Given the description of an element on the screen output the (x, y) to click on. 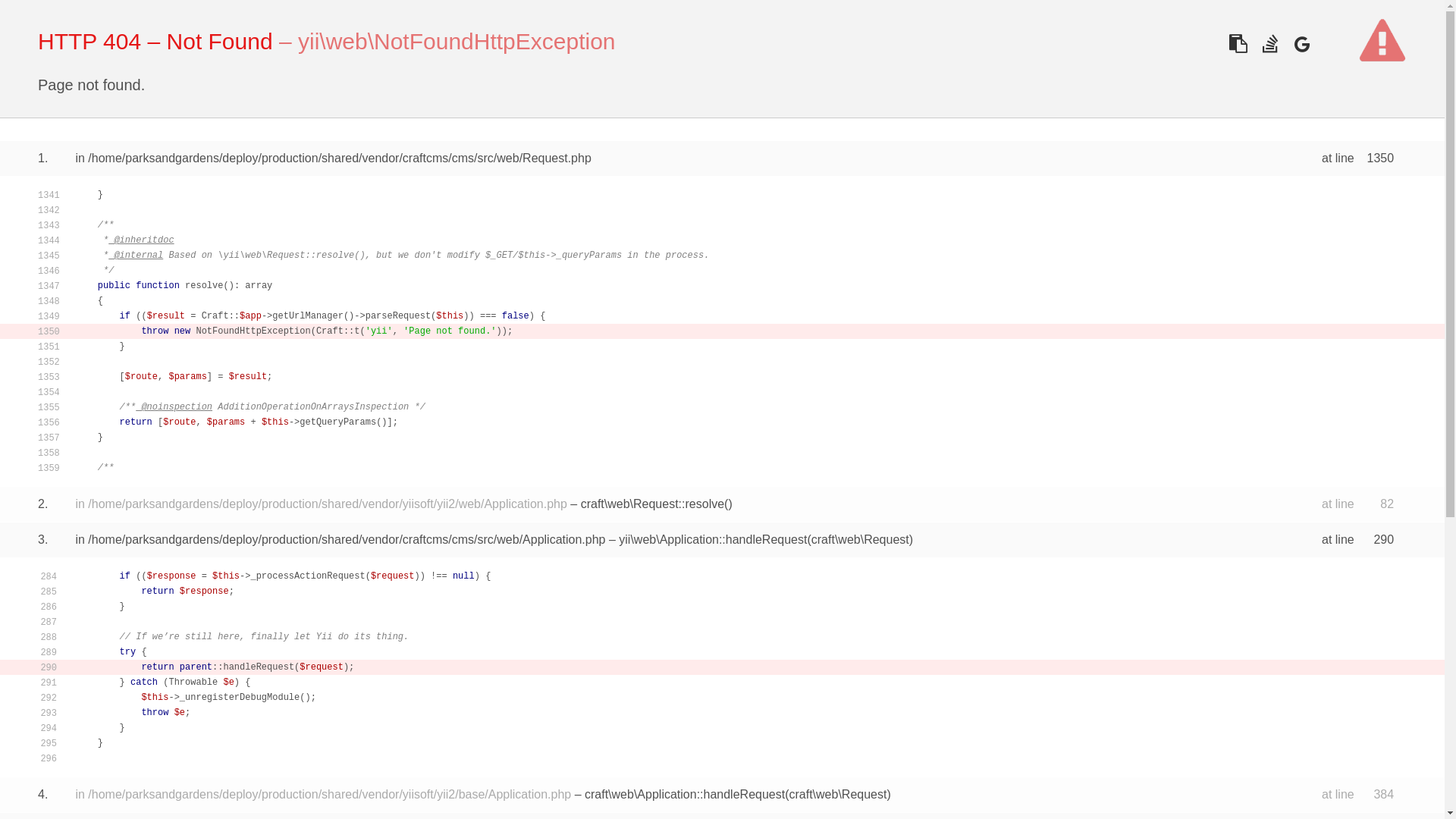
Search error on Stackoverflow (1269, 43)
Search error on Google (1301, 43)
Copy the stacktrace for use in a bug report or pastebin (1237, 43)
